Given the description of an element on the screen output the (x, y) to click on. 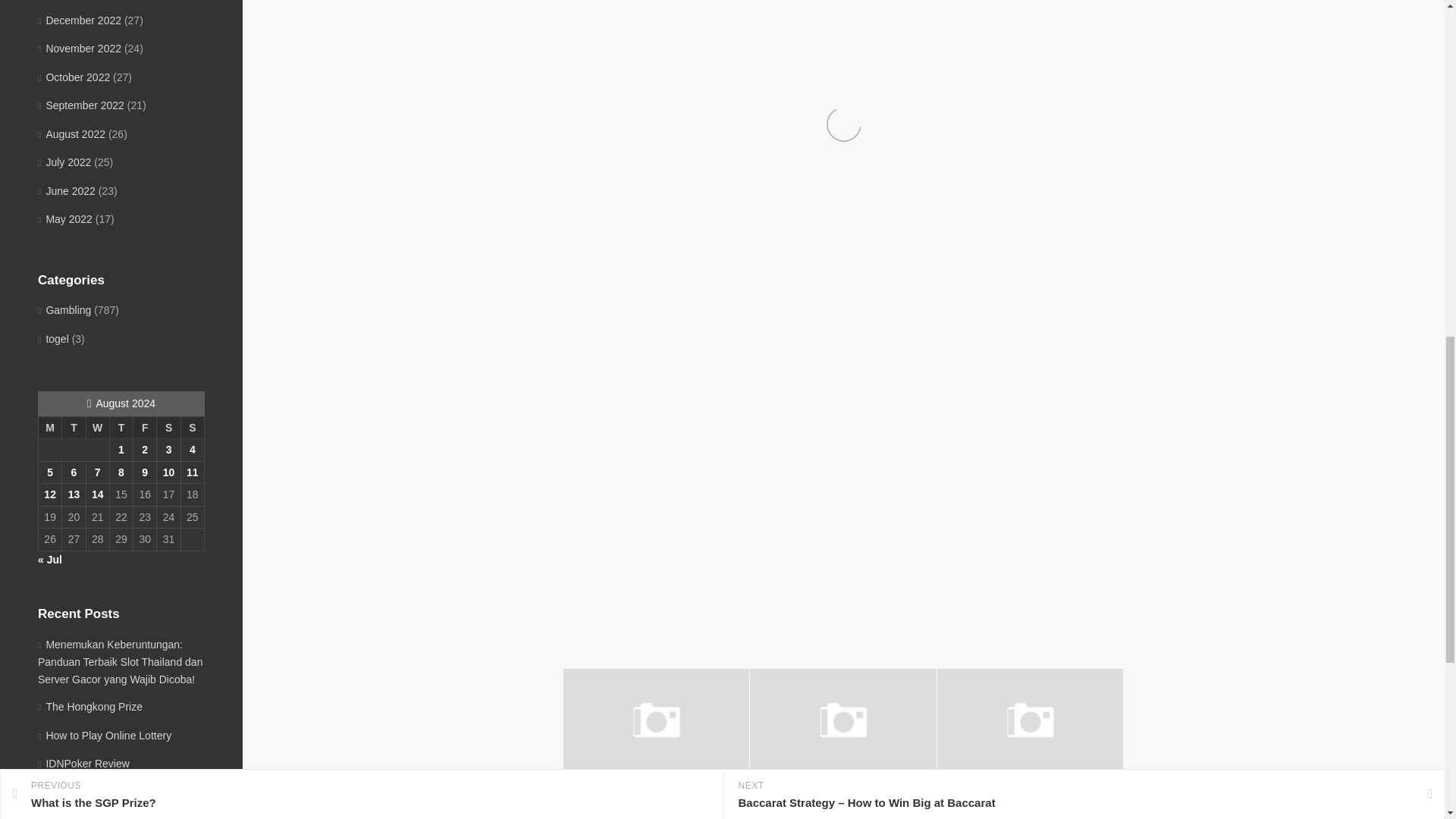
Tuesday (73, 427)
Monday (49, 427)
October 2022 (73, 77)
Saturday (168, 427)
Friday (145, 427)
November 2022 (78, 48)
Thursday (120, 427)
December 2022 (78, 19)
Wednesday (97, 427)
Singapore Prize (607, 797)
